Given the description of an element on the screen output the (x, y) to click on. 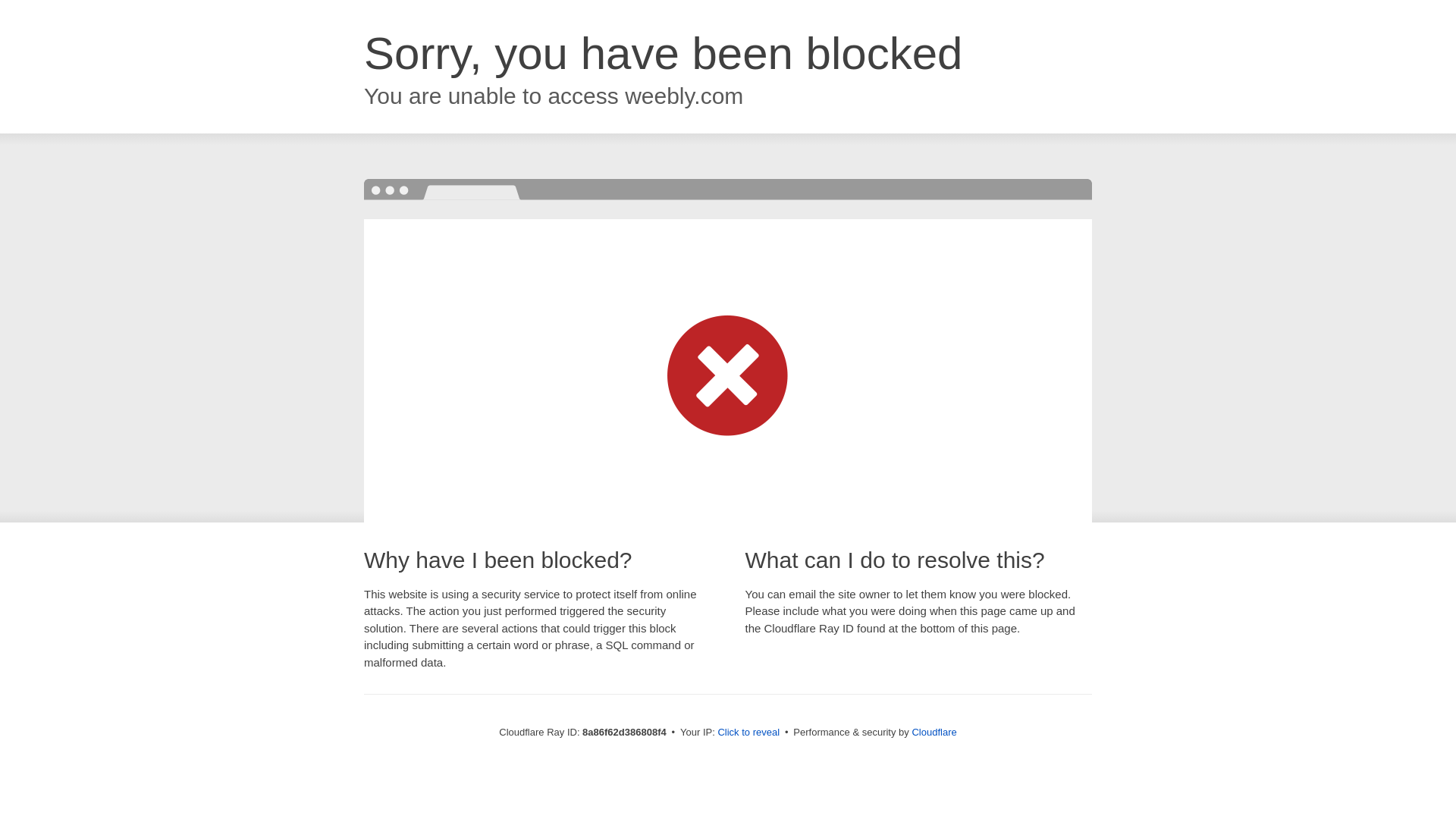
Click to reveal (747, 732)
Cloudflare (933, 731)
